Given the description of an element on the screen output the (x, y) to click on. 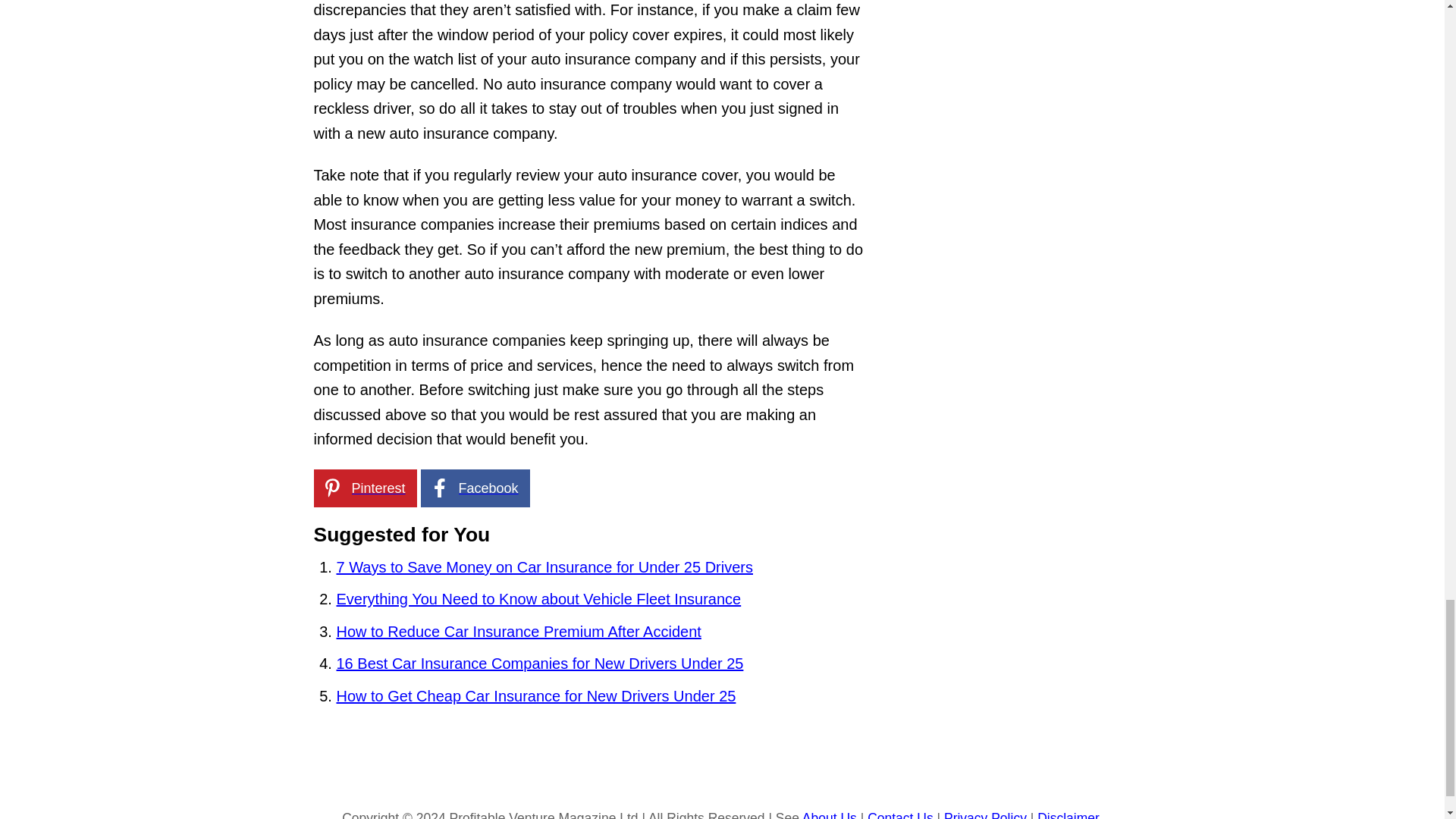
16 Best Car Insurance Companies for New Drivers Under 25 (540, 663)
Disclaimer (1067, 814)
Pinterest (365, 487)
Everything You Need to Know about Vehicle Fleet Insurance (538, 598)
How to Get Cheap Car Insurance for New Drivers Under 25 (536, 695)
How to Get Cheap Car Insurance for New Drivers Under 25 (536, 695)
Facebook (474, 487)
How to Reduce Car Insurance Premium After Accident (518, 631)
7 Ways to Save Money on Car Insurance for Under 25 Drivers (545, 566)
7 Ways to Save Money on Car Insurance for Under 25 Drivers (545, 566)
Privacy Policy (984, 814)
About Us (829, 814)
16 Best Car Insurance Companies for New Drivers Under 25 (540, 663)
Contact Us (900, 814)
Everything You Need to Know about Vehicle Fleet Insurance (538, 598)
